Given the description of an element on the screen output the (x, y) to click on. 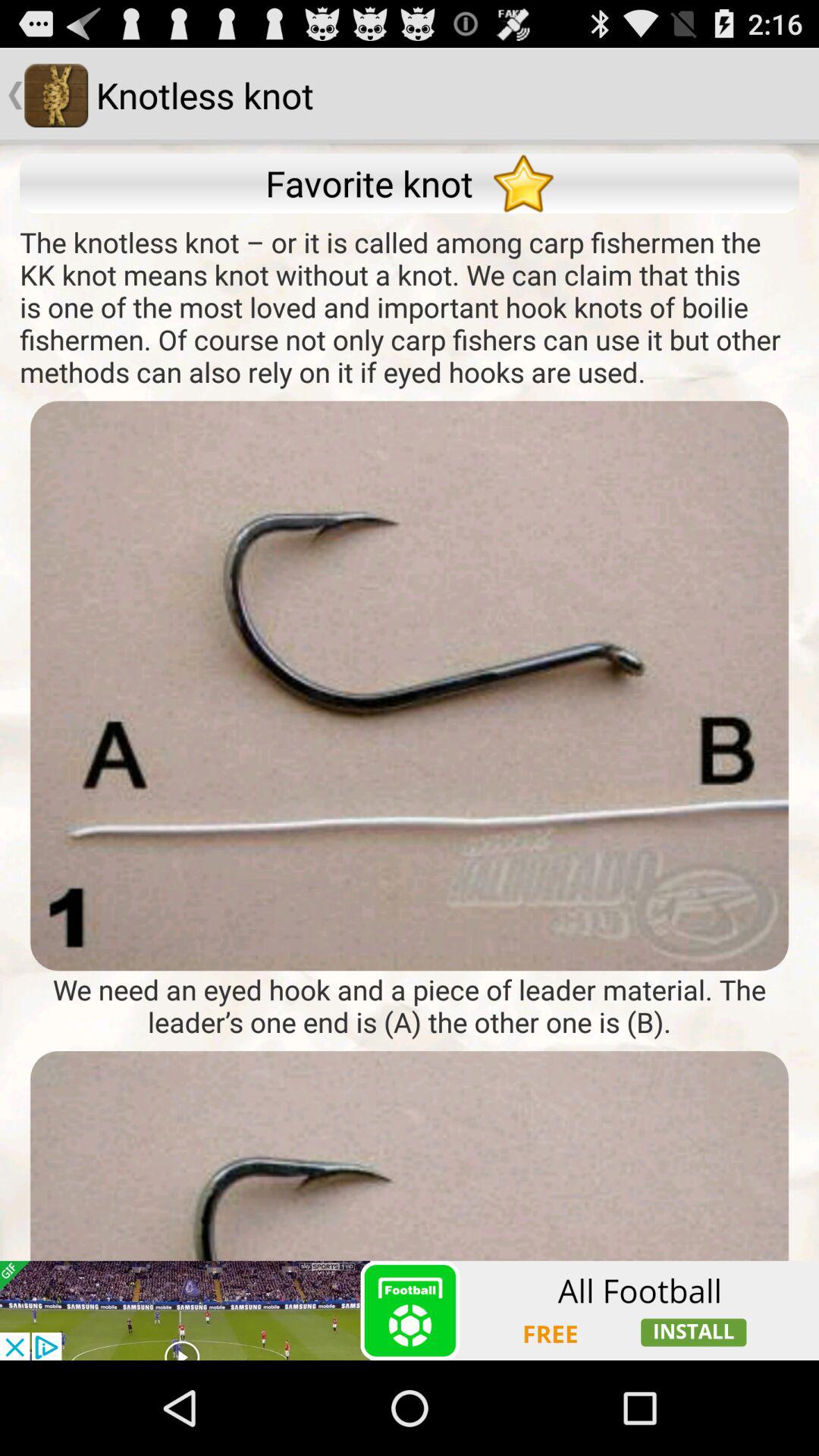
enlarge the image (409, 685)
